Given the description of an element on the screen output the (x, y) to click on. 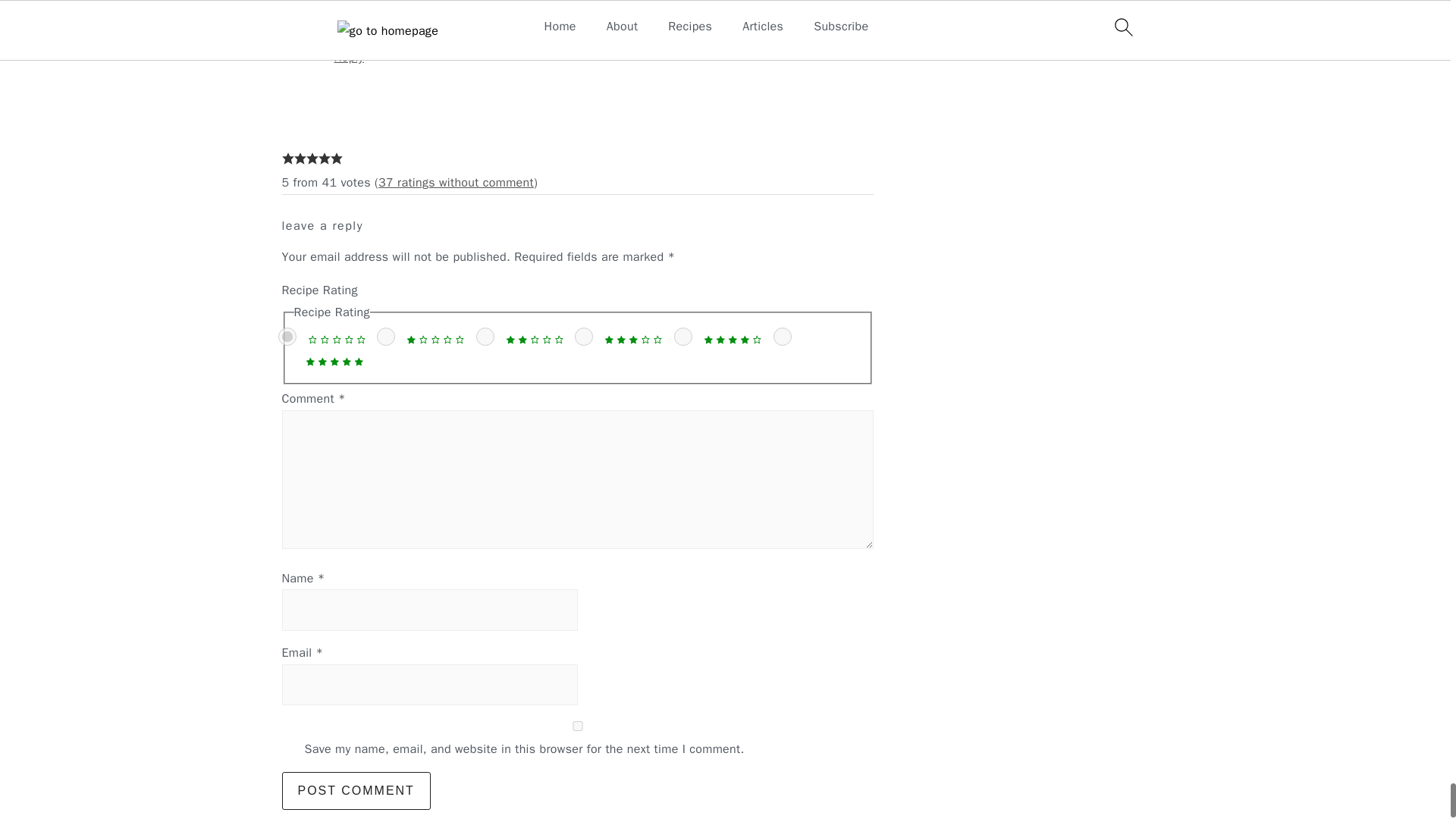
yes (577, 726)
4 (683, 336)
3 (583, 336)
Post Comment (356, 790)
0 (286, 336)
5 (782, 336)
2 (485, 336)
1 (385, 336)
